Given the description of an element on the screen output the (x, y) to click on. 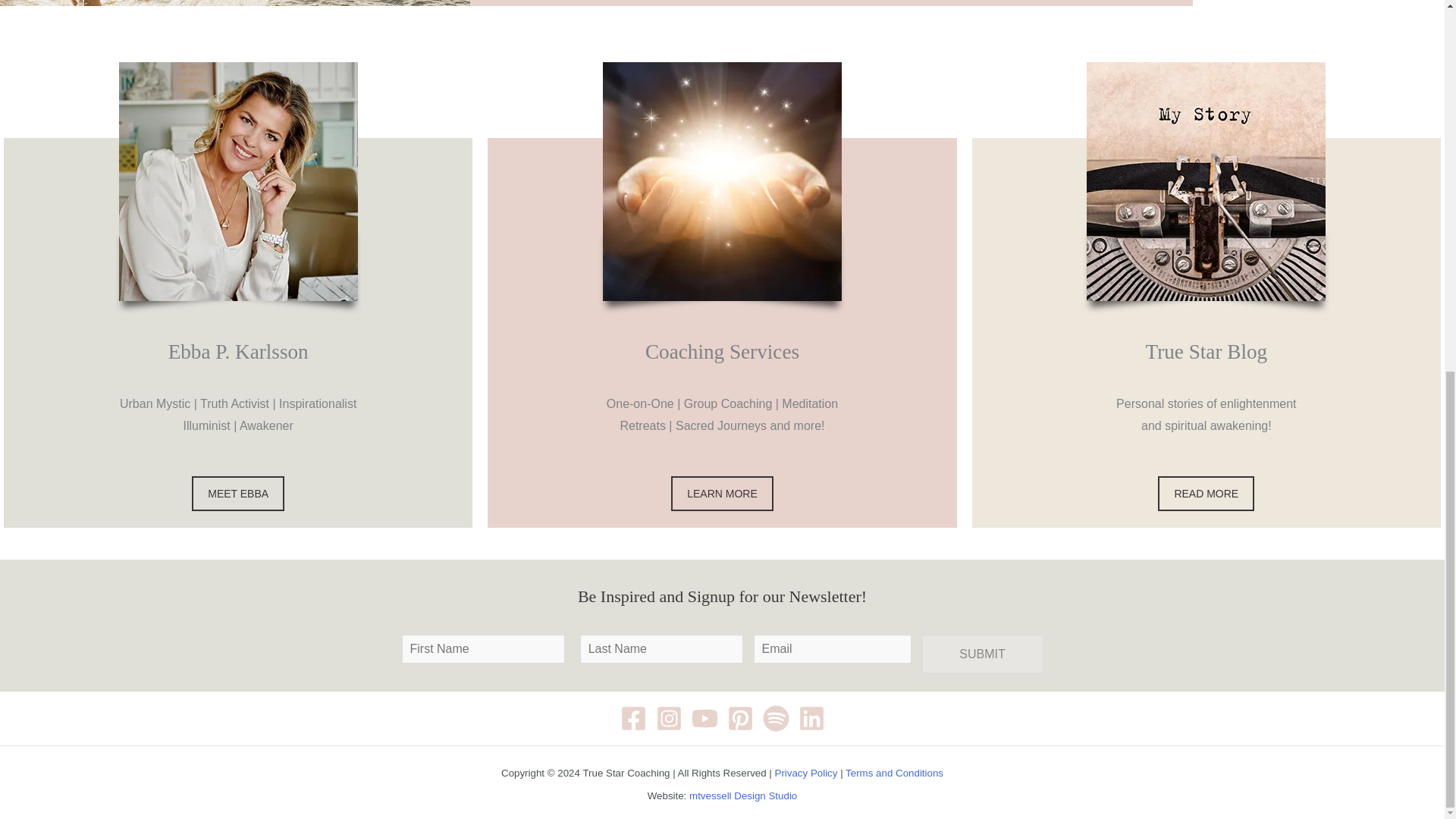
Blog (1205, 493)
Ebba P. Karlsson (237, 493)
Services (722, 493)
